Given the description of an element on the screen output the (x, y) to click on. 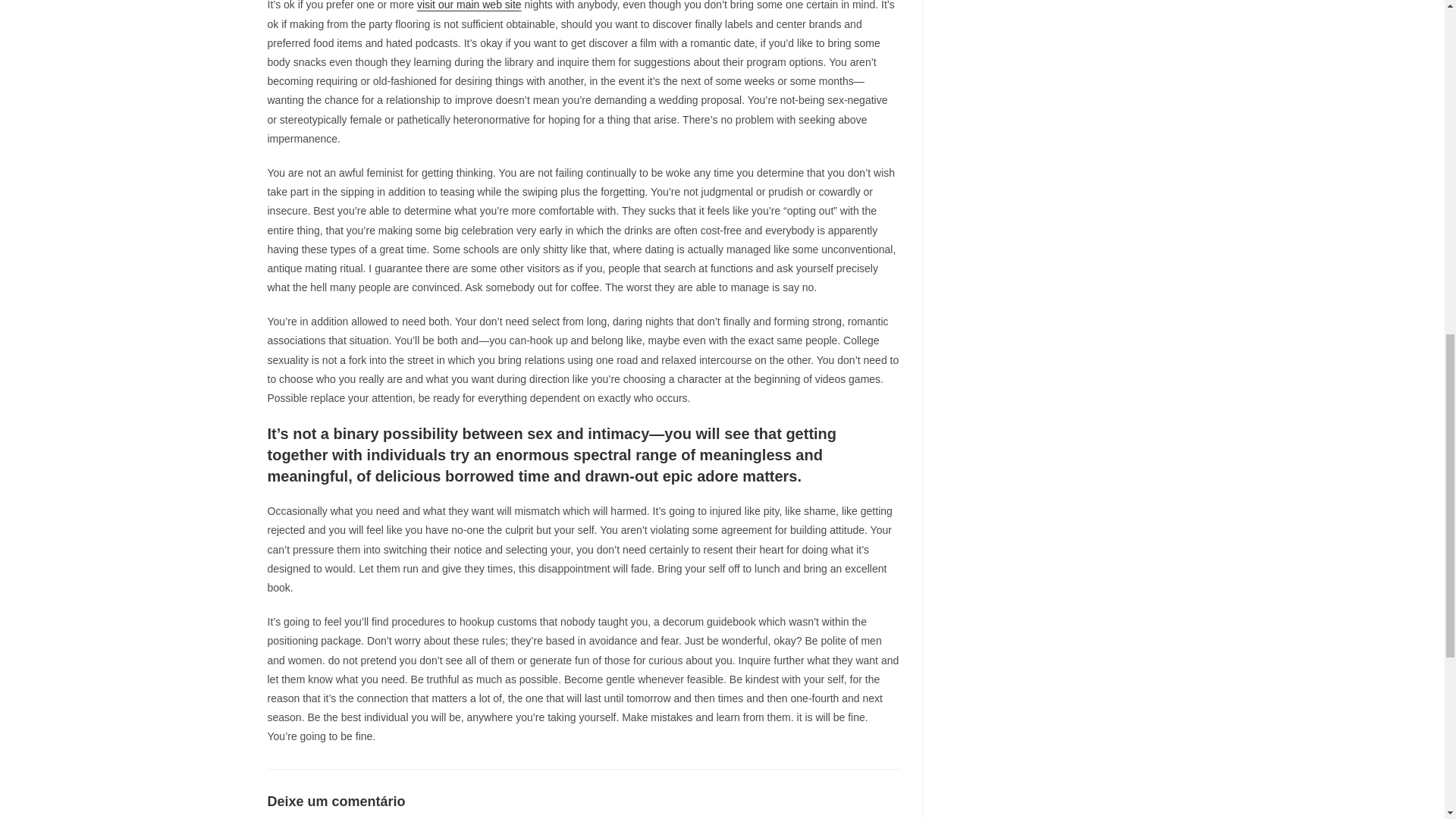
visit our main web site (468, 5)
